Given the description of an element on the screen output the (x, y) to click on. 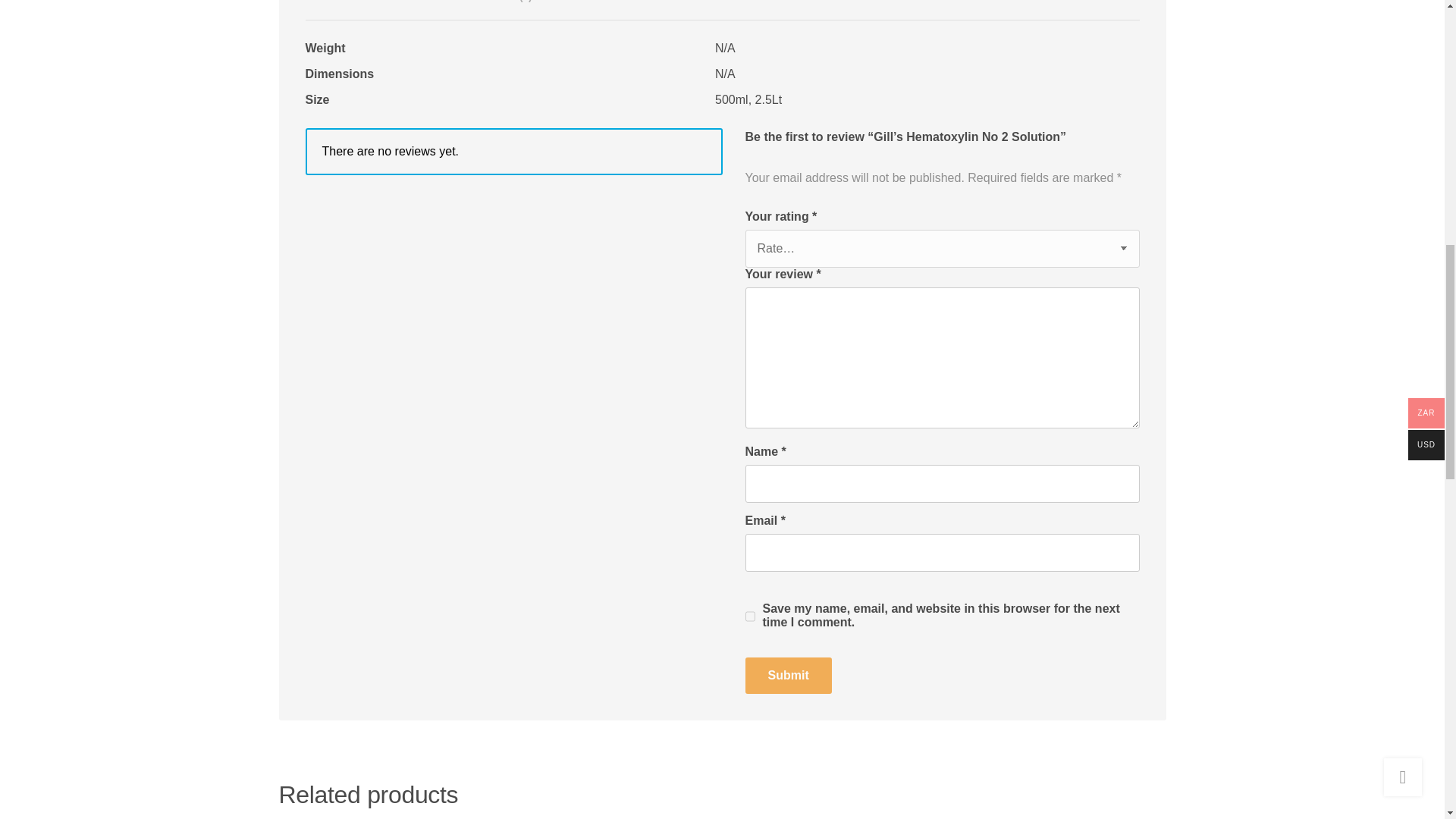
ADDITIONAL INFORMATION (370, 2)
Submit (787, 675)
Submit (787, 675)
